Given the description of an element on the screen output the (x, y) to click on. 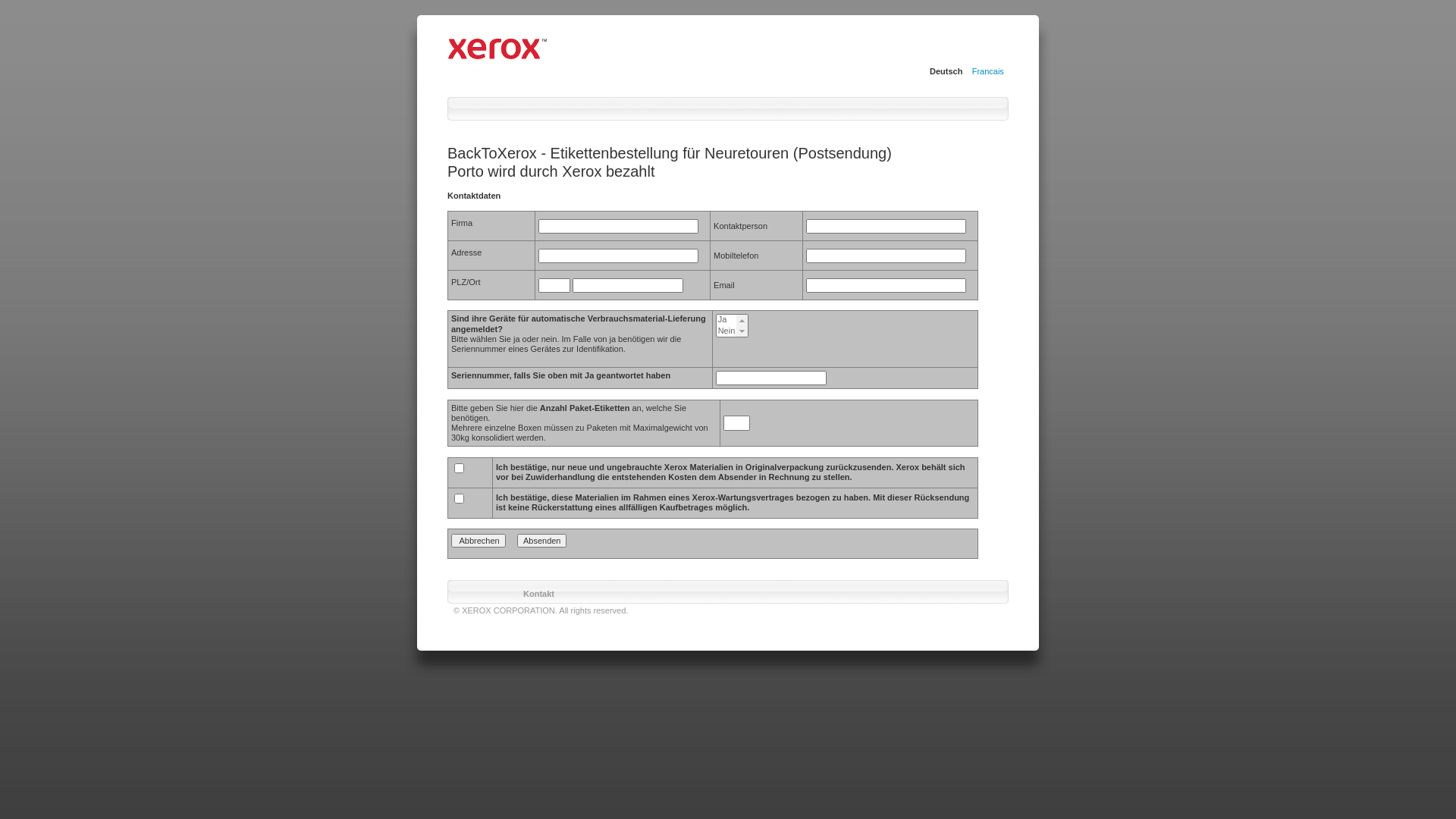
Absenden Element type: text (542, 540)
Kontakt Element type: text (538, 593)
Francais Element type: text (988, 70)
